Given the description of an element on the screen output the (x, y) to click on. 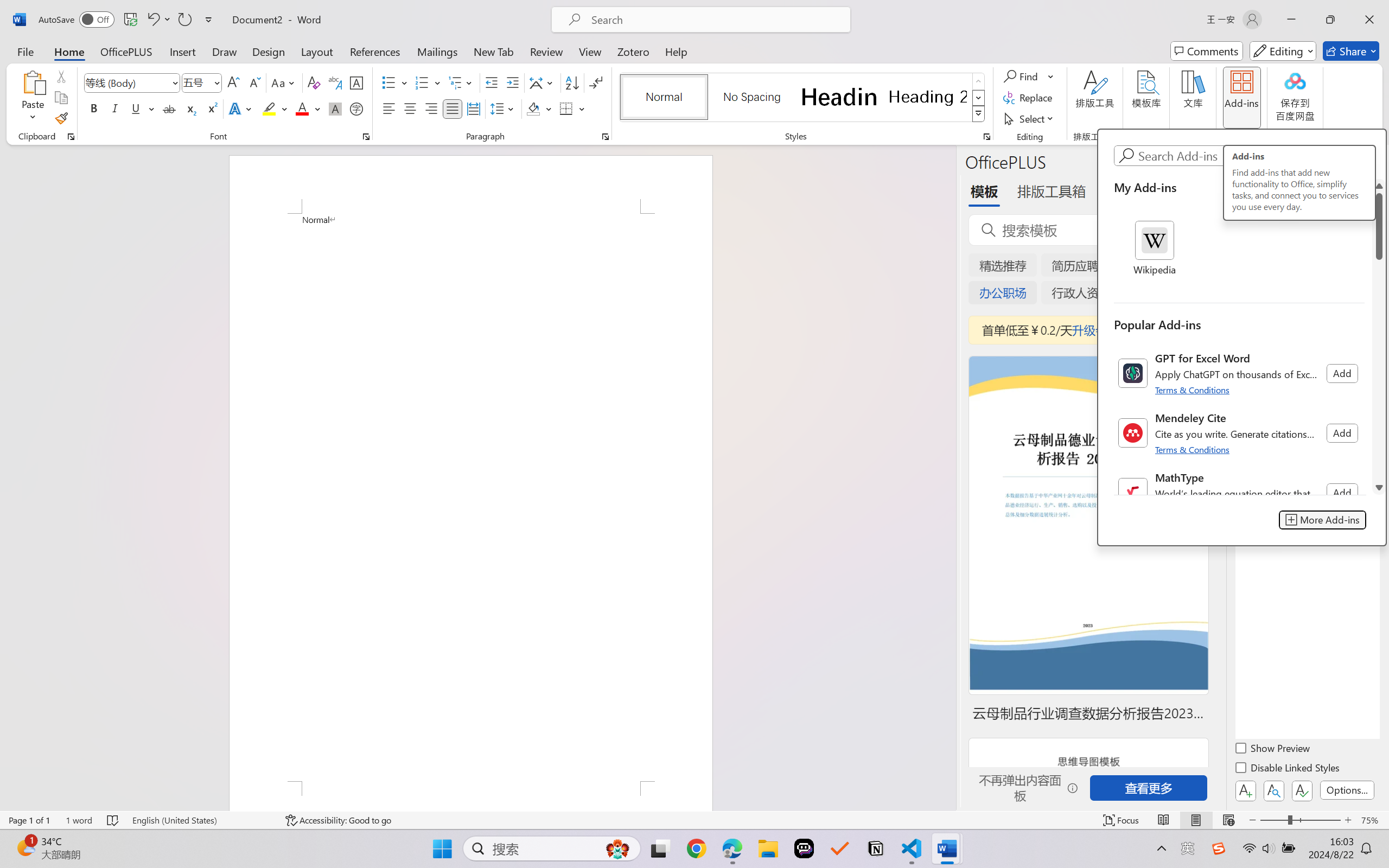
Comments (1206, 50)
Save (130, 19)
Class: NetUIImage (1133, 492)
Mendeley Cite (1239, 432)
Zoom In (1348, 819)
Notion (875, 848)
Layout (316, 51)
Shading (539, 108)
Page Number Page 1 of 1 (29, 819)
Add (1342, 492)
Text Highlight Color Yellow (269, 108)
Wikipedia (1154, 248)
